Given the description of an element on the screen output the (x, y) to click on. 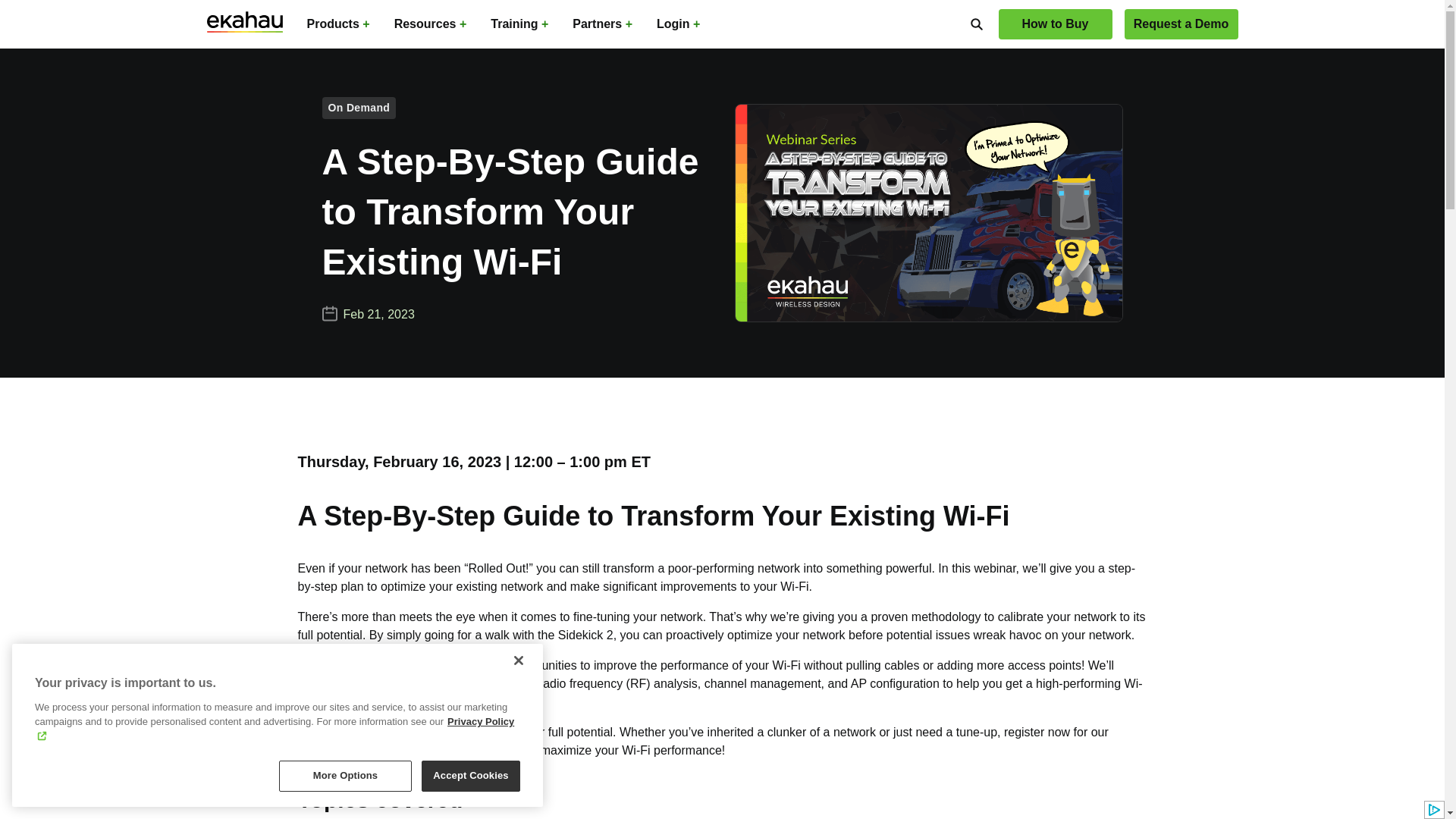
Products (337, 24)
Resources (430, 24)
Partners (601, 24)
Training (519, 24)
